Given the description of an element on the screen output the (x, y) to click on. 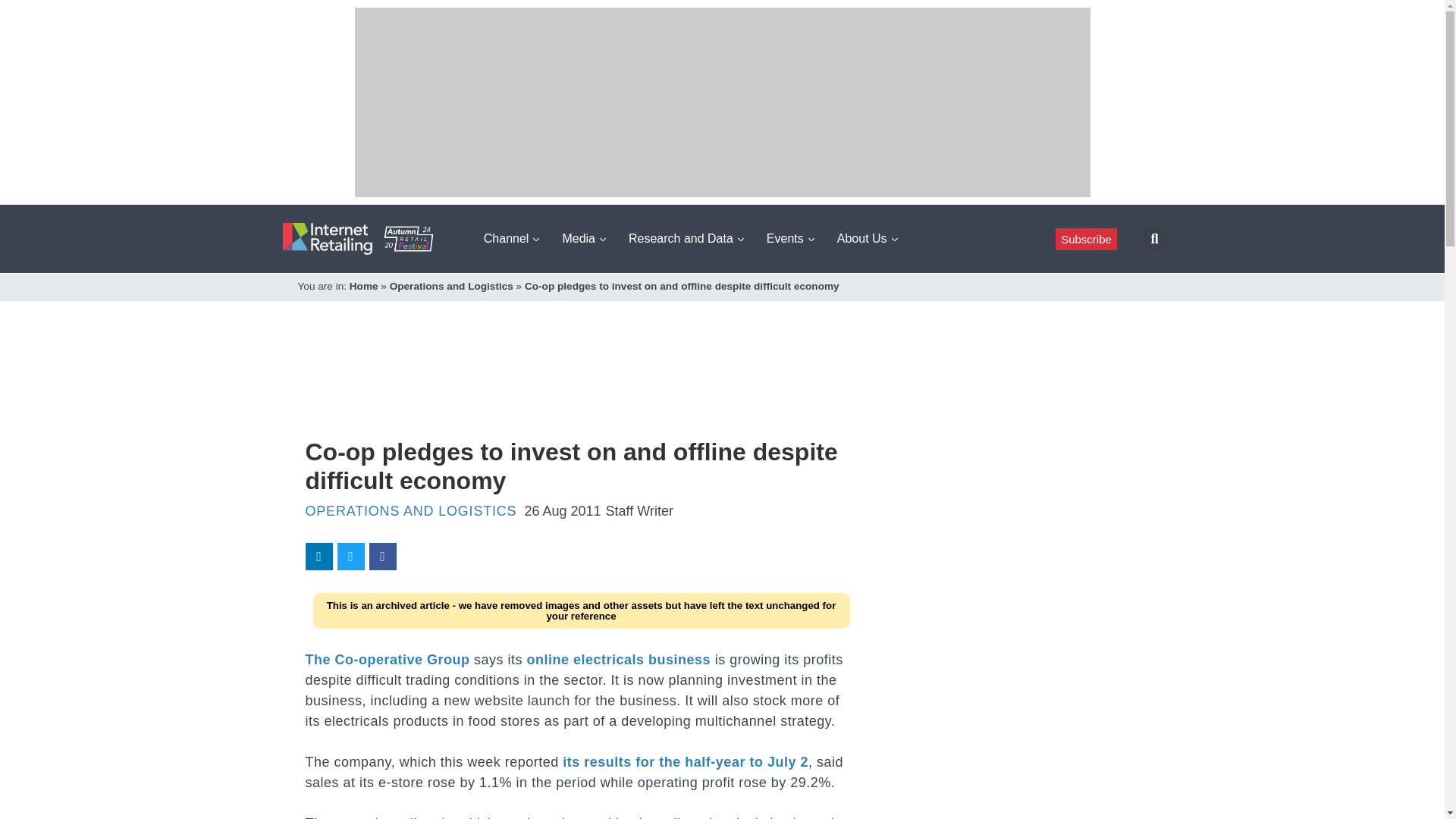
Media (583, 238)
Research and Data (686, 238)
3rd party ad content (580, 387)
Channel (511, 238)
